Given the description of an element on the screen output the (x, y) to click on. 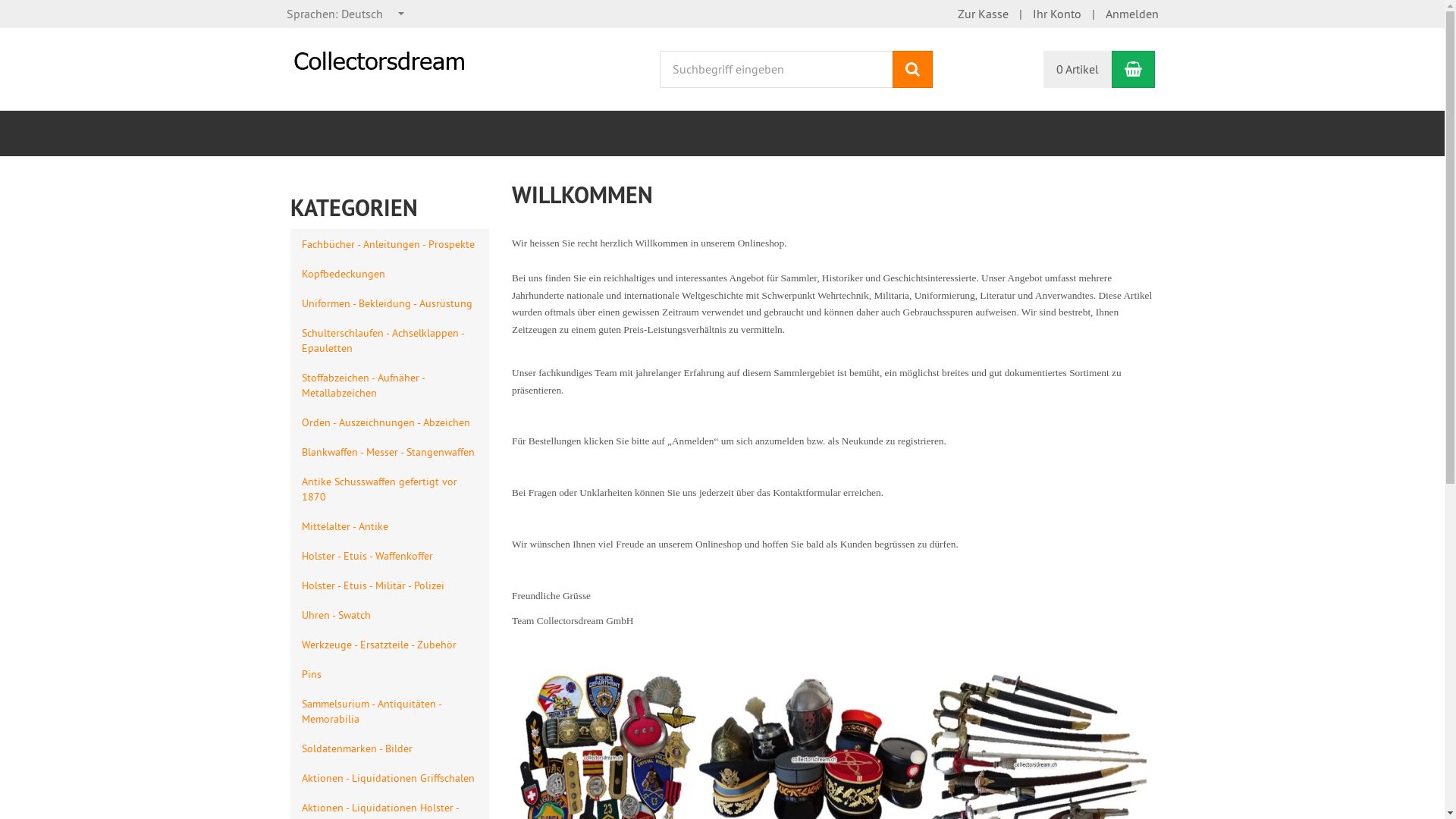
Collectorsdream GmbH Element type: hover (380, 53)
Aktionen - Liquidationen Griffschalen Element type: text (389, 777)
Schulterschlaufen - Achselklappen - Epauletten Element type: text (389, 339)
Uhren - Swatch Element type: text (389, 614)
Kopfbedeckungen Element type: text (389, 273)
Antike Schusswaffen gefertigt vor 1870 Element type: text (389, 488)
Ihr Konto Element type: text (1056, 14)
Orden - Auszeichnungen - Abzeichen Element type: text (389, 421)
0 Artikel Element type: text (1077, 68)
Zur Kasse Element type: text (982, 14)
Sprachen: Deutsch Element type: text (346, 14)
Soldatenmarken - Bilder Element type: text (389, 747)
Suchen Element type: text (912, 68)
Warenkorb Element type: text (1132, 68)
Anmelden Element type: text (1132, 14)
Blankwaffen - Messer - Stangenwaffen Element type: text (389, 451)
Holster - Etuis - Waffenkoffer Element type: text (389, 555)
Pins Element type: text (389, 673)
Mittelalter - Antike Element type: text (389, 525)
